Given the description of an element on the screen output the (x, y) to click on. 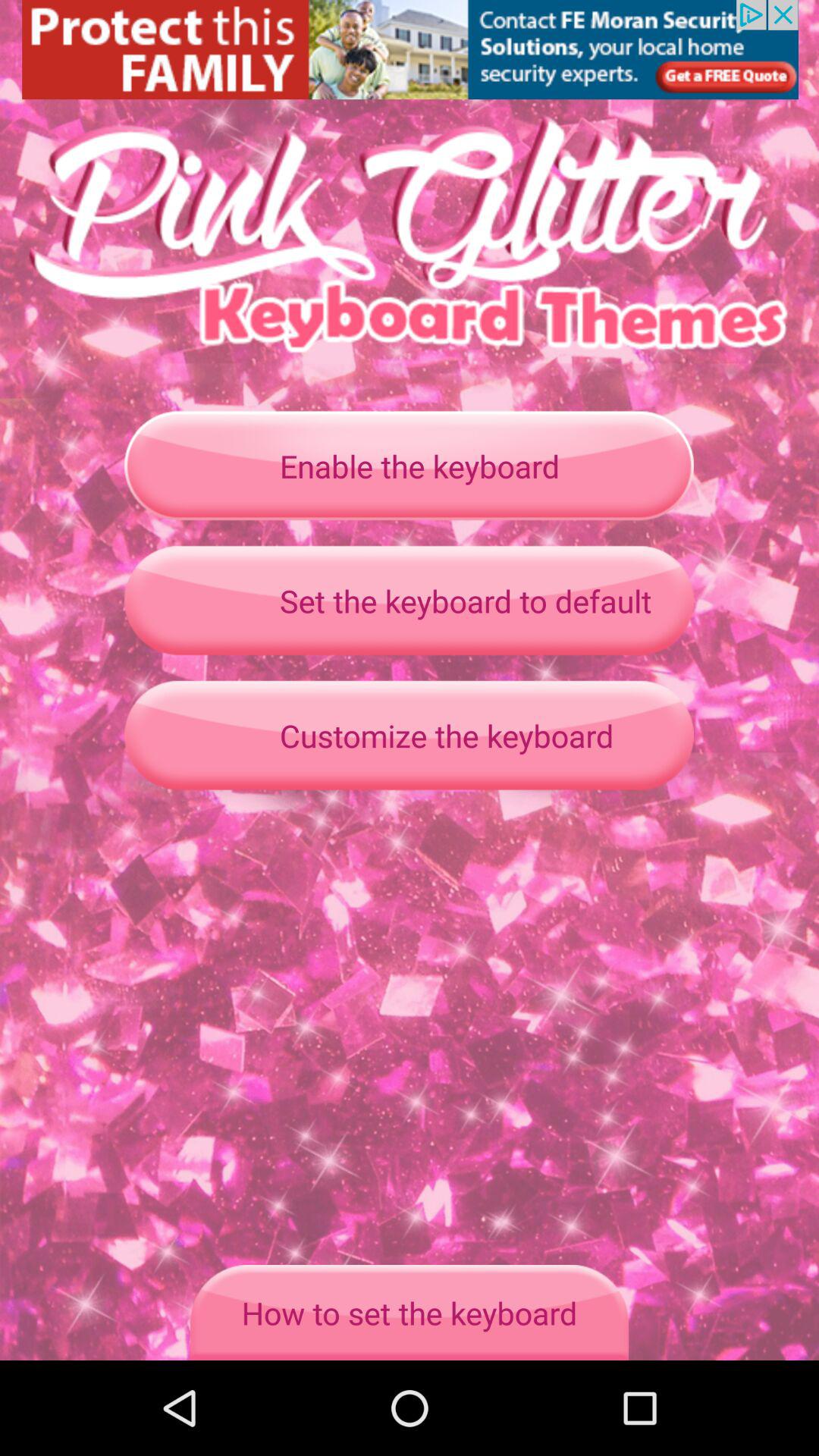
see an image (409, 49)
